Given the description of an element on the screen output the (x, y) to click on. 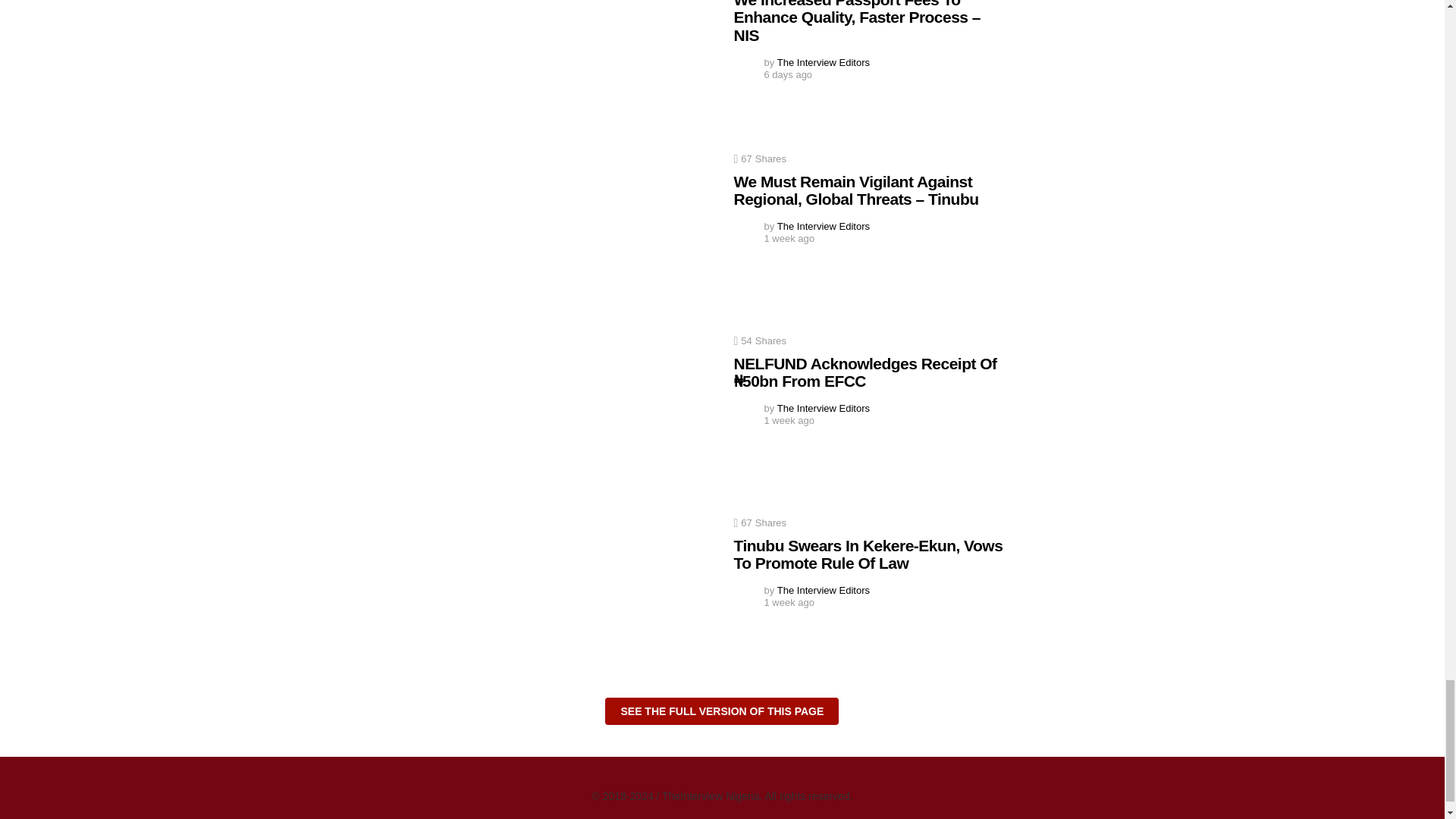
Posts by The Interview Editors (823, 61)
Posts by The Interview Editors (823, 590)
Posts by The Interview Editors (823, 408)
Tinubu Swears In Kekere-Ekun, Vows To Promote Rule Of Law (573, 594)
Posts by The Interview Editors (823, 225)
